Given the description of an element on the screen output the (x, y) to click on. 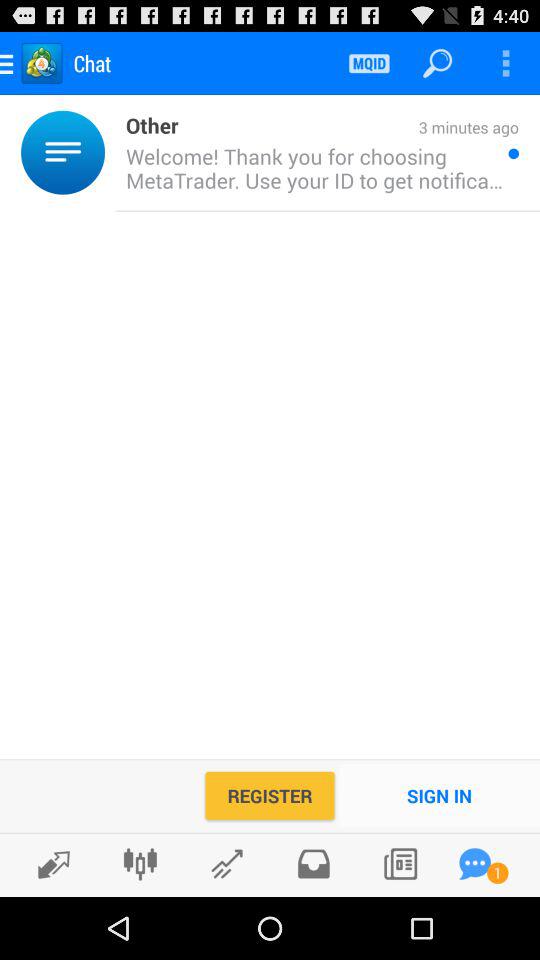
inbox (313, 863)
